Given the description of an element on the screen output the (x, y) to click on. 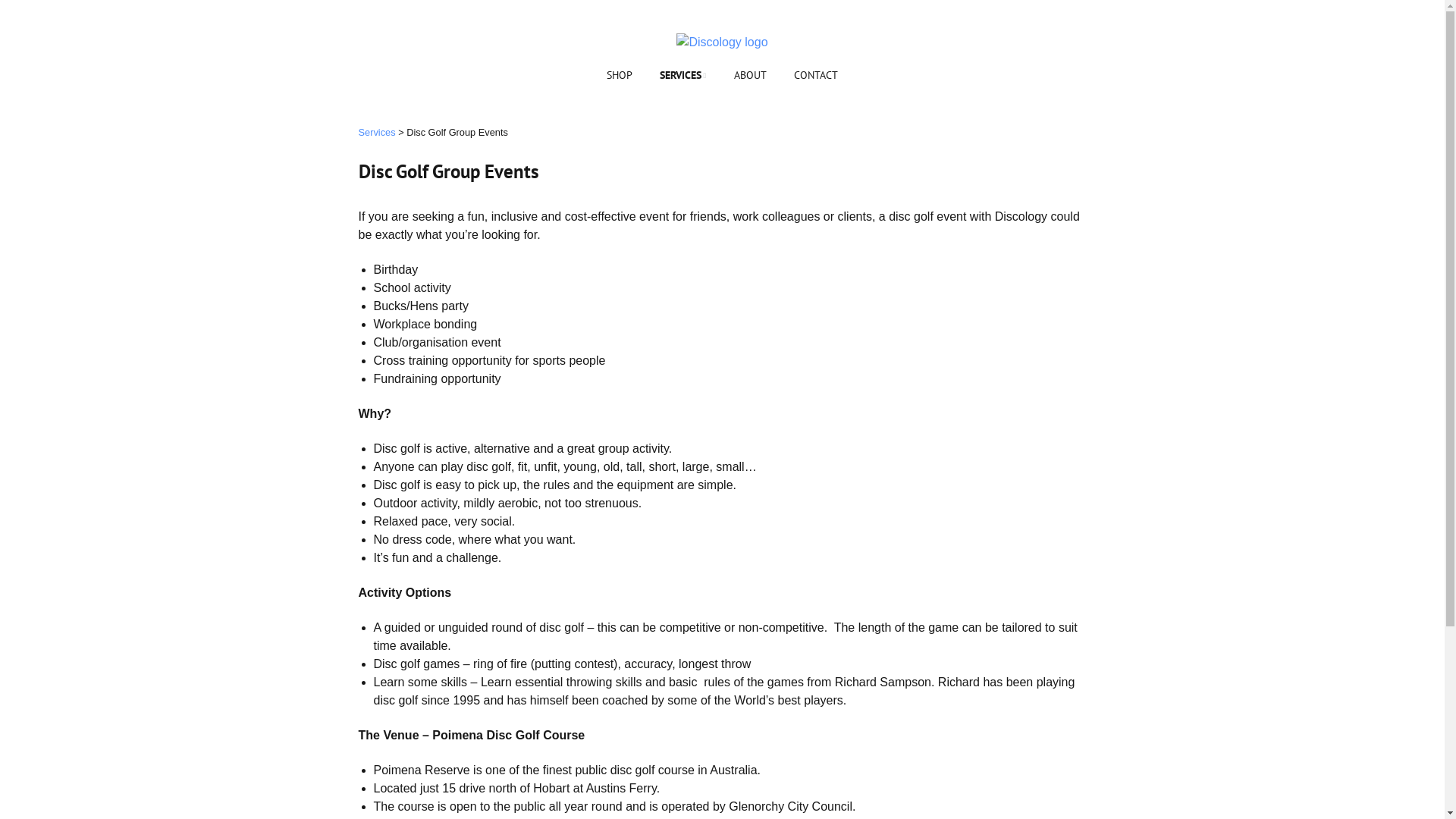
SHOP Element type: text (619, 75)
SERVICES Element type: text (682, 75)
Services Element type: text (376, 132)
CONTACT Element type: text (815, 75)
ABOUT Element type: text (749, 75)
